Given the description of an element on the screen output the (x, y) to click on. 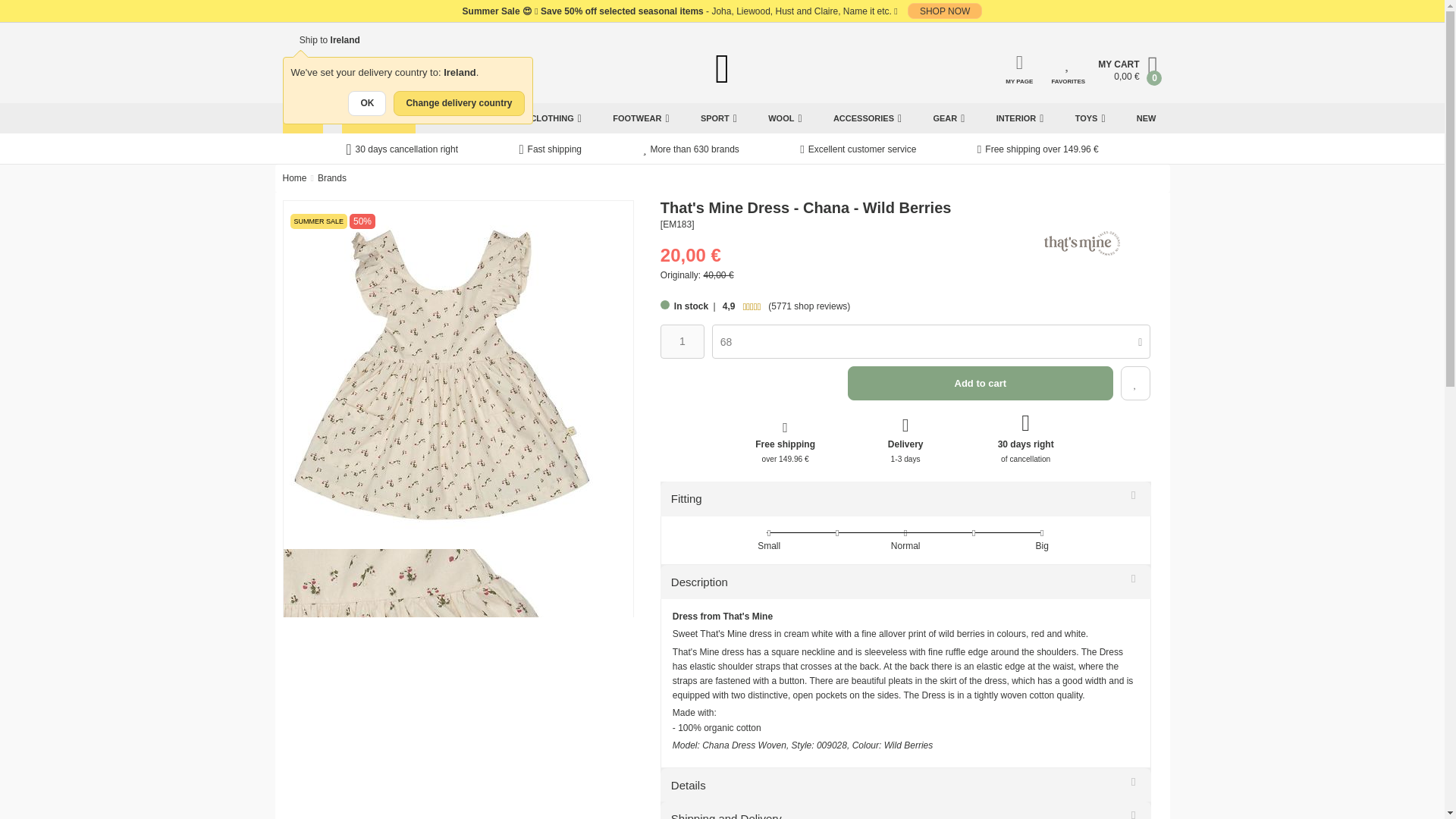
That's Mine Dress - Chana - Wild Berries (441, 683)
That's Mine Dress - Chana - Wild Berries (441, 374)
30 days cancellation right (402, 149)
KIDS CLOTHING (545, 118)
NEW (1146, 118)
Excellent customer service (857, 149)
TOYS (1090, 118)
SHOP NOW (944, 10)
Home (293, 177)
BRANDS (459, 118)
